Given the description of an element on the screen output the (x, y) to click on. 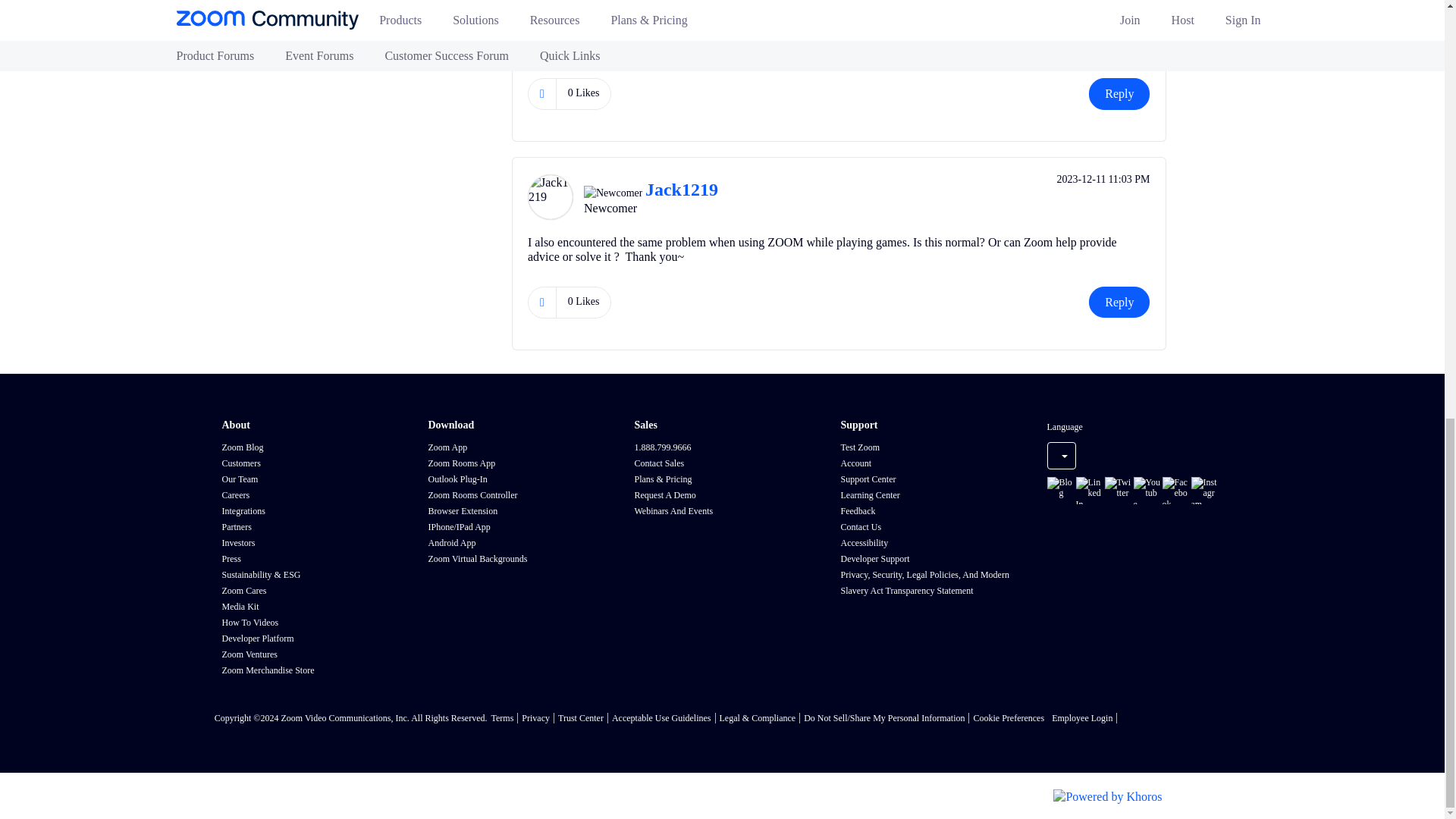
The total number of likes this post has received. (583, 92)
Click here to give likes to this post. (542, 93)
